Given the description of an element on the screen output the (x, y) to click on. 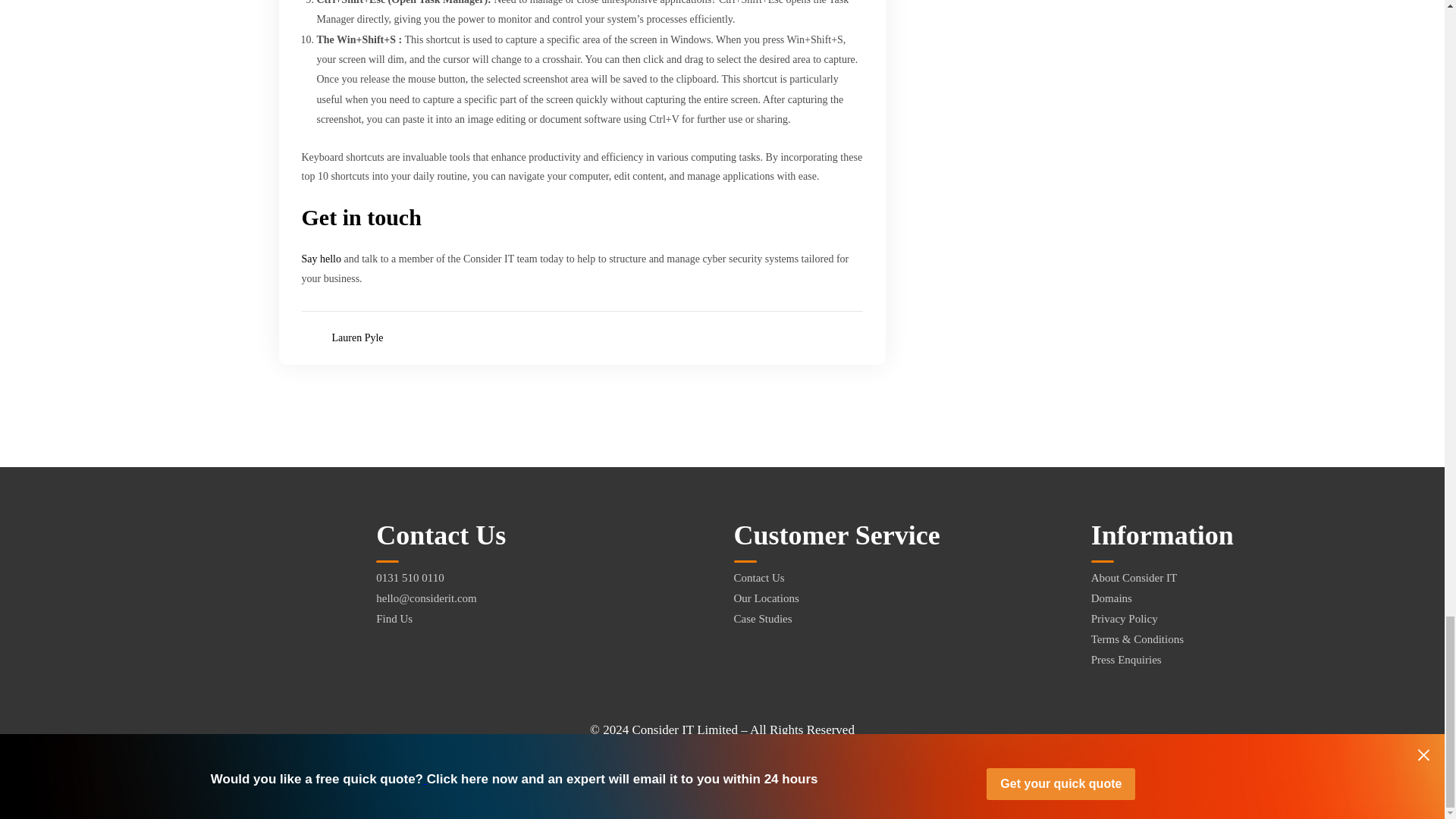
considerIT-new-logo (106, 572)
Posts by Lauren Pyle (357, 337)
